Given the description of an element on the screen output the (x, y) to click on. 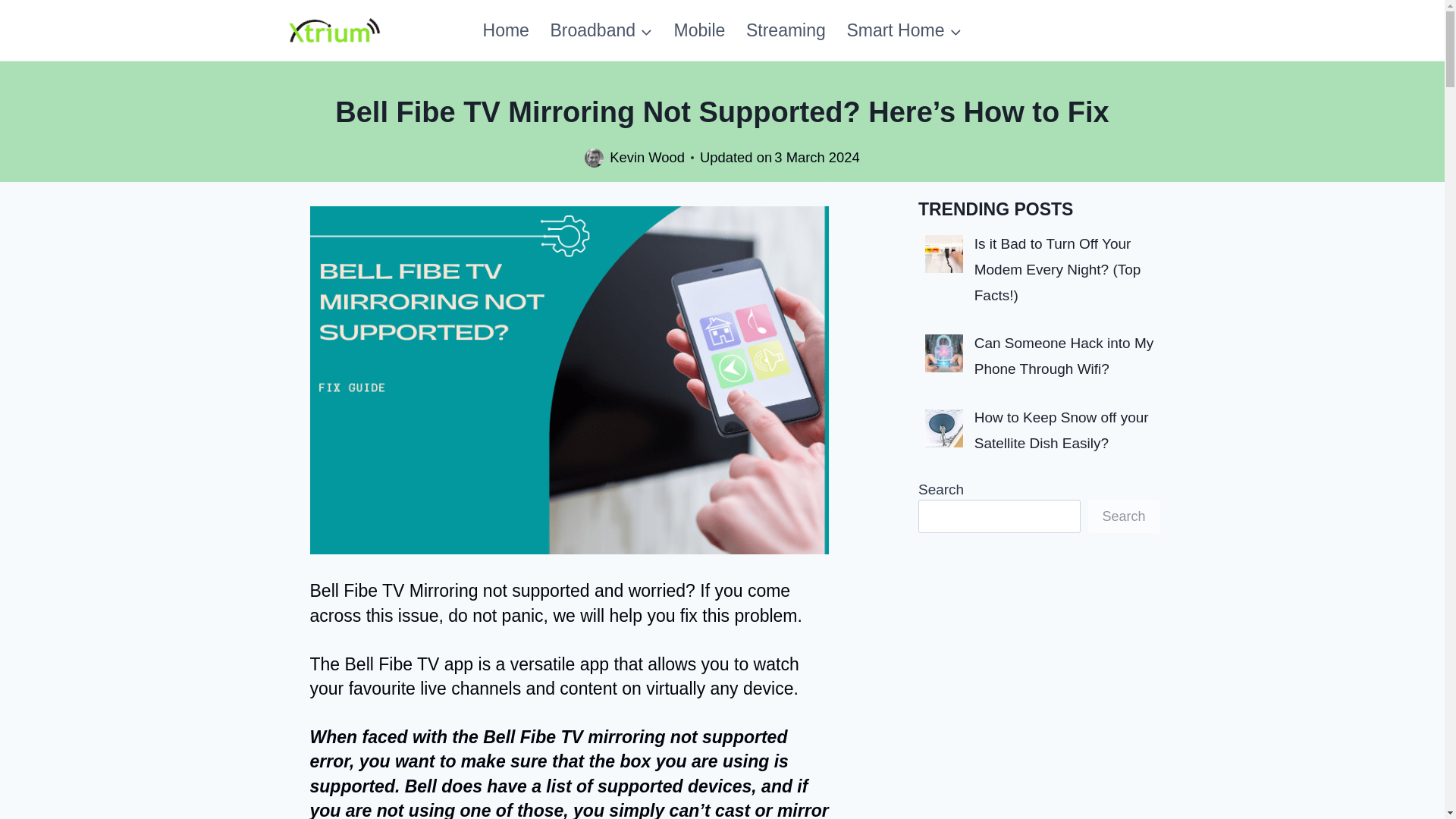
Broadband (601, 30)
How to Keep Snow off your Satellite Dish Easily? 9 (943, 428)
Kevin Wood (647, 157)
Search (1122, 516)
How to Keep Snow off your Satellite Dish Easily? (1061, 430)
Can Someone Hack into My Phone Through Wifi? (1064, 355)
Streaming (785, 30)
Smart Home (903, 30)
Can Someone Hack into My Phone Through Wifi? 8 (943, 353)
Mobile (699, 30)
Home (505, 30)
